Given the description of an element on the screen output the (x, y) to click on. 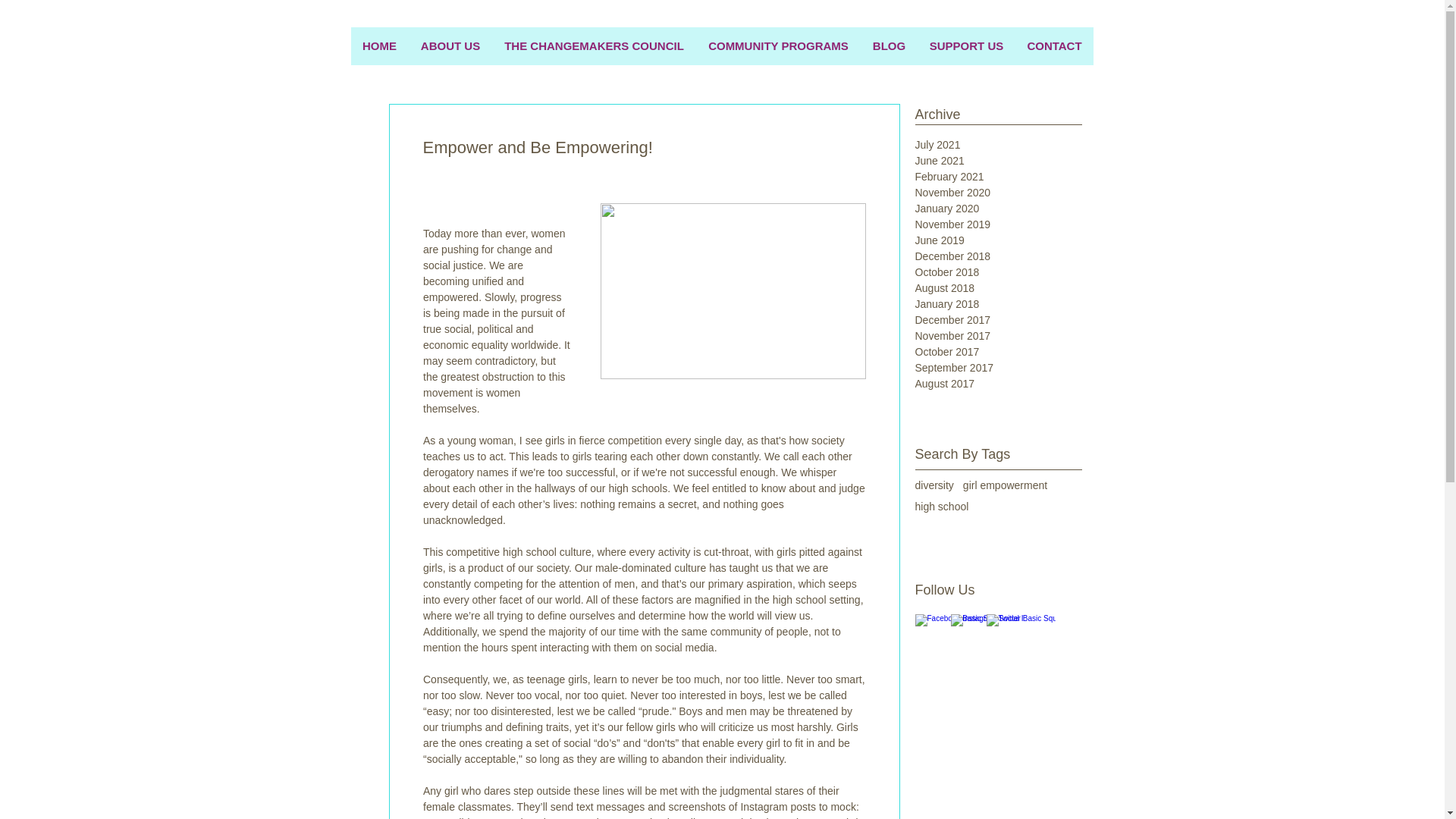
THE CHANGEMAKERS COUNCIL (593, 46)
January 2018 (992, 304)
diversity (933, 485)
November 2017 (992, 335)
October 2018 (992, 272)
July 2021 (992, 145)
October 2017 (992, 351)
November 2019 (992, 224)
December 2018 (992, 256)
June 2019 (992, 240)
